Given the description of an element on the screen output the (x, y) to click on. 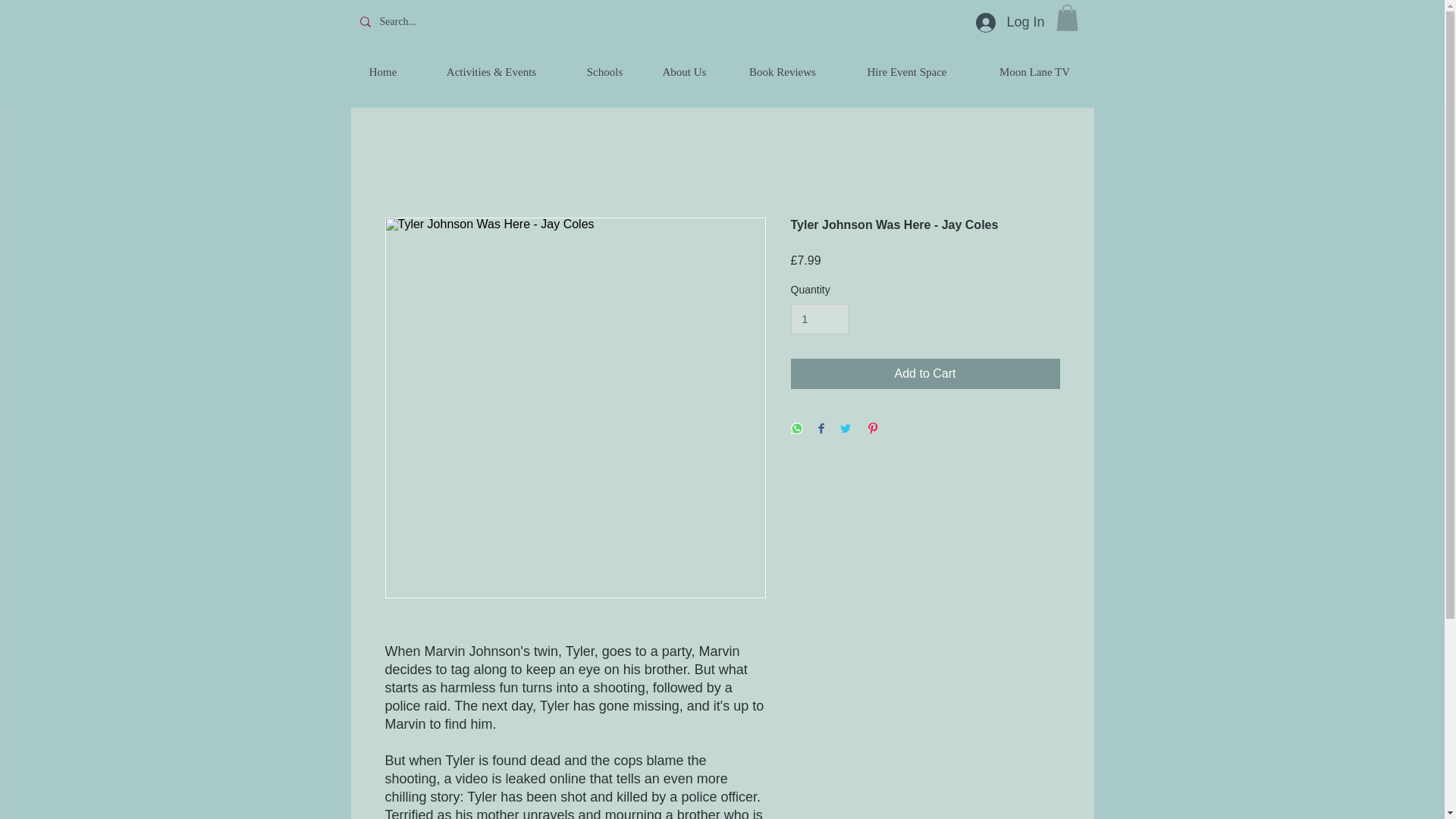
About Us (683, 72)
Add to Cart (924, 373)
1 (818, 318)
Moon Lane TV (1034, 72)
Book Reviews (782, 72)
Hire Event Space (906, 72)
Schools (604, 72)
Home (382, 72)
Log In (1009, 22)
